Given the description of an element on the screen output the (x, y) to click on. 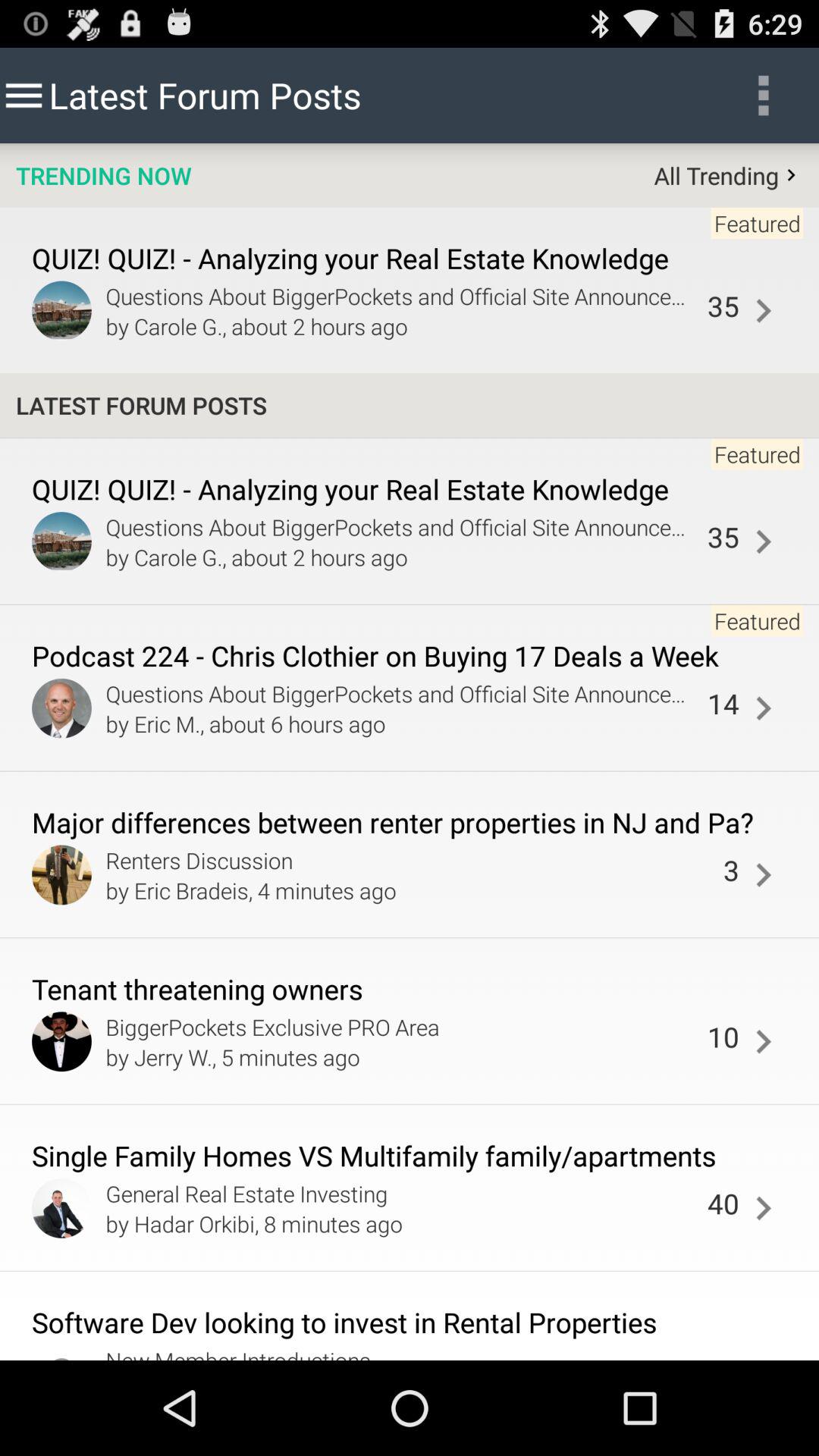
open item next to the 40 (402, 1223)
